Given the description of an element on the screen output the (x, y) to click on. 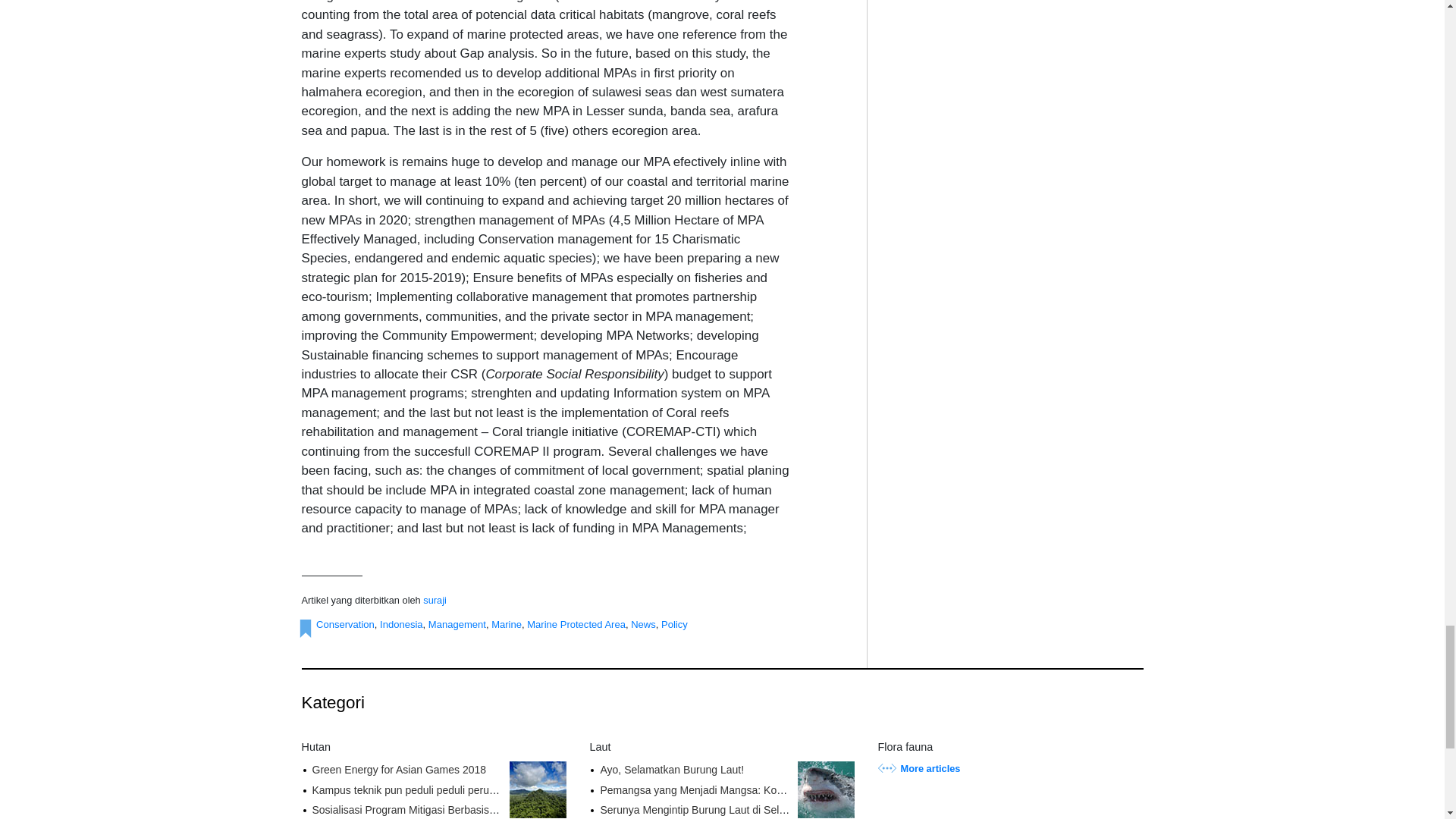
Indonesia (401, 624)
suraji (434, 600)
Posts by suraji (434, 600)
Management (457, 624)
Conservation (344, 624)
